Given the description of an element on the screen output the (x, y) to click on. 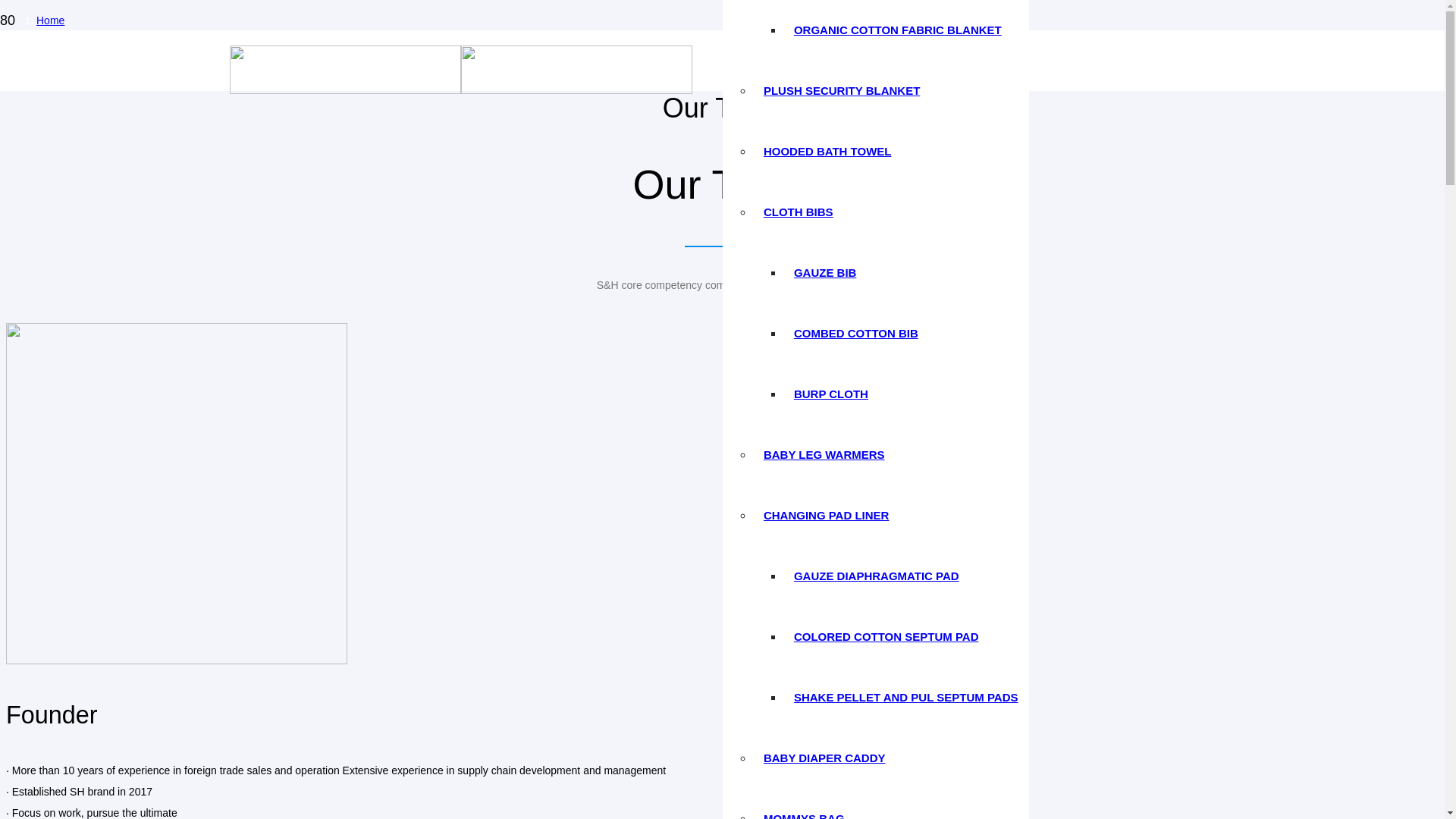
BURP CLOTH (831, 393)
GAUZE DIAPHRAGMATIC PAD (876, 576)
HOODED BATH TOWEL (826, 150)
PLUSH SECURITY BLANKET (841, 90)
ORGANIC COTTON FABRIC BLANKET (897, 29)
GAUZE BIB (824, 272)
SHAKE PELLET AND PUL SEPTUM PADS (905, 697)
COMBED COTTON BIB (855, 332)
BABY LEG WARMERS (823, 454)
COLORED COTTON SEPTUM PAD (885, 636)
